Given the description of an element on the screen output the (x, y) to click on. 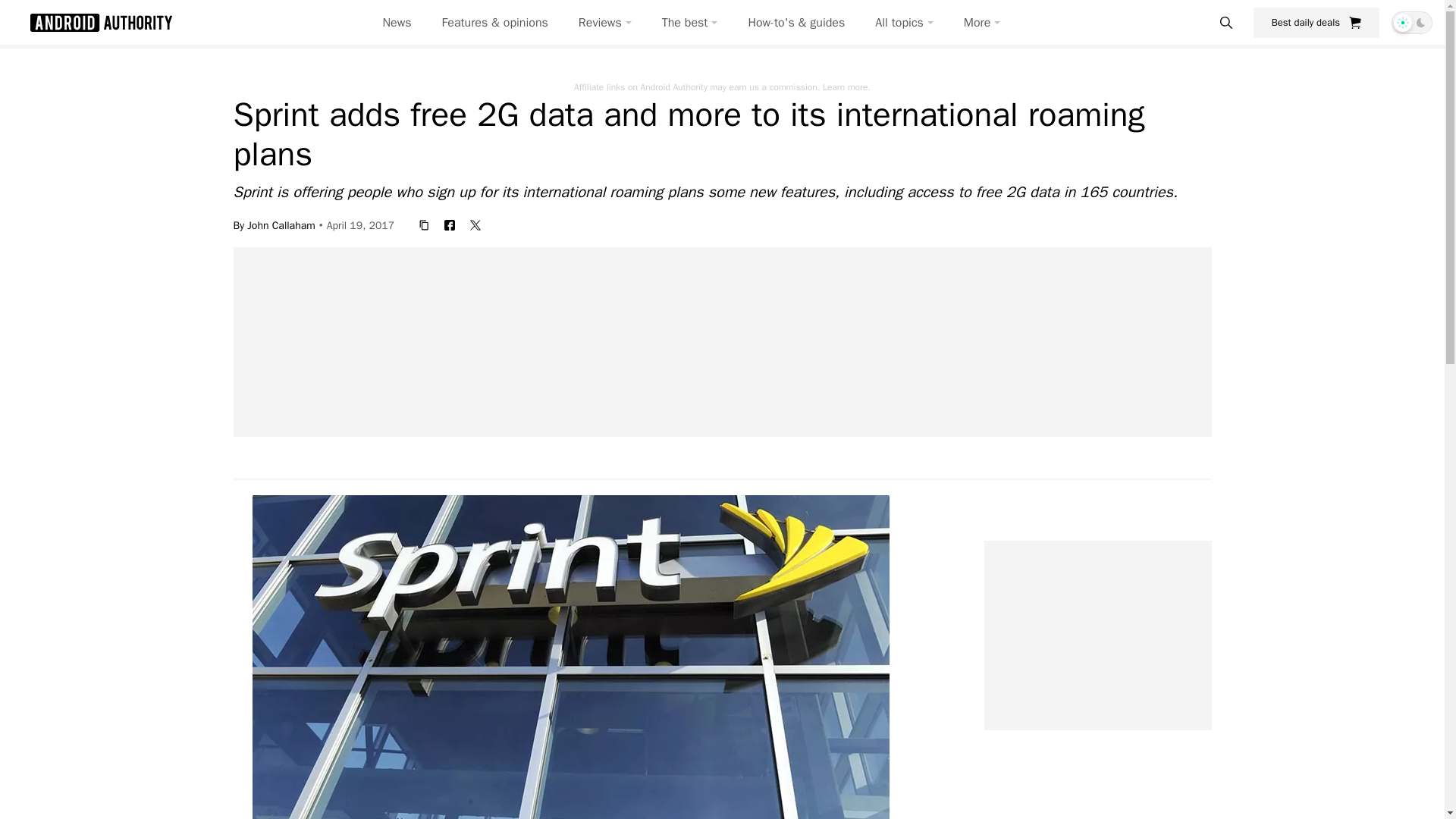
Reviews (604, 22)
The best (689, 22)
Best daily deals (1315, 22)
John Callaham (280, 224)
twitter (475, 225)
Learn more. (846, 86)
facebook (449, 225)
All topics (904, 22)
